Given the description of an element on the screen output the (x, y) to click on. 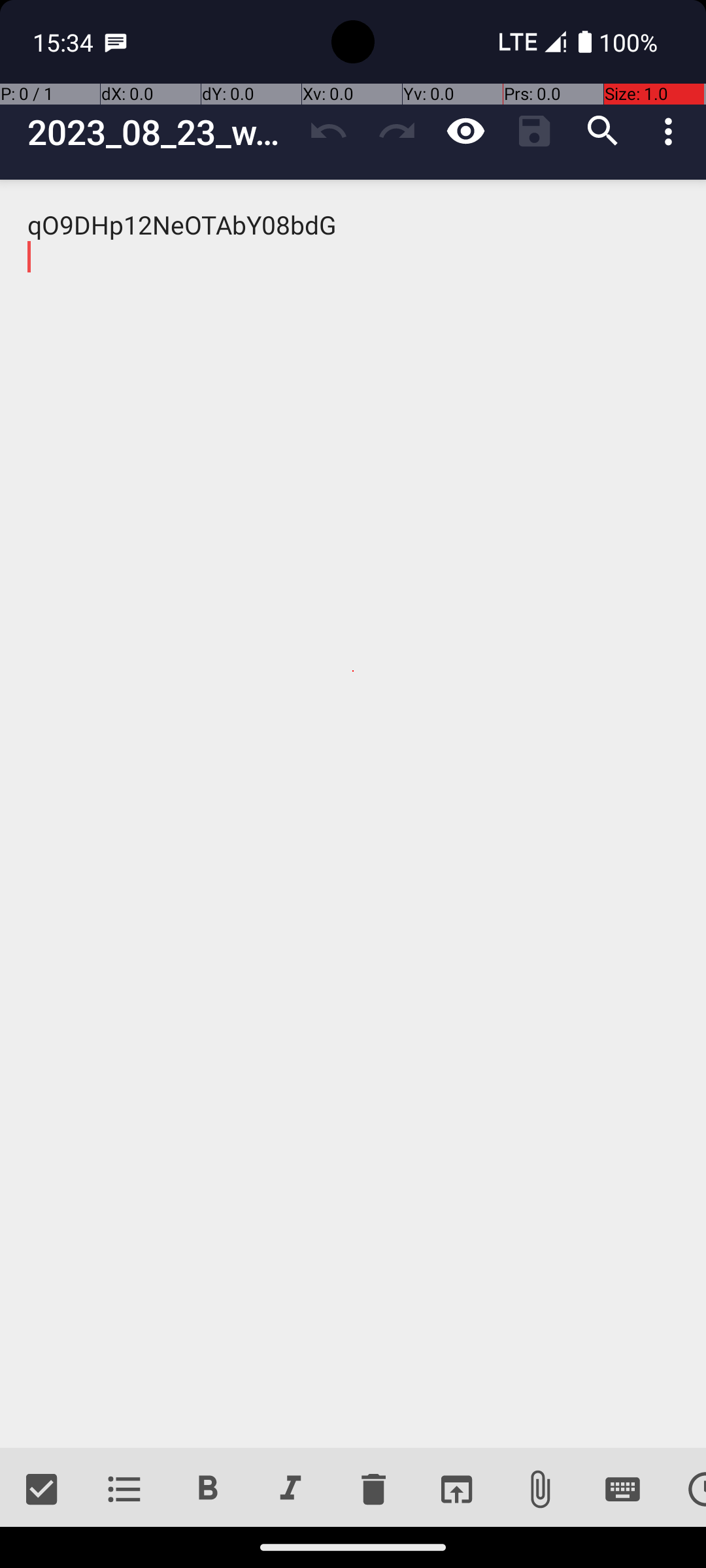
2023_08_23_weekend_todo_list Element type: android.widget.TextView (160, 131)
qO9DHp12NeOTAbY08bdG
 Element type: android.widget.EditText (353, 813)
